Given the description of an element on the screen output the (x, y) to click on. 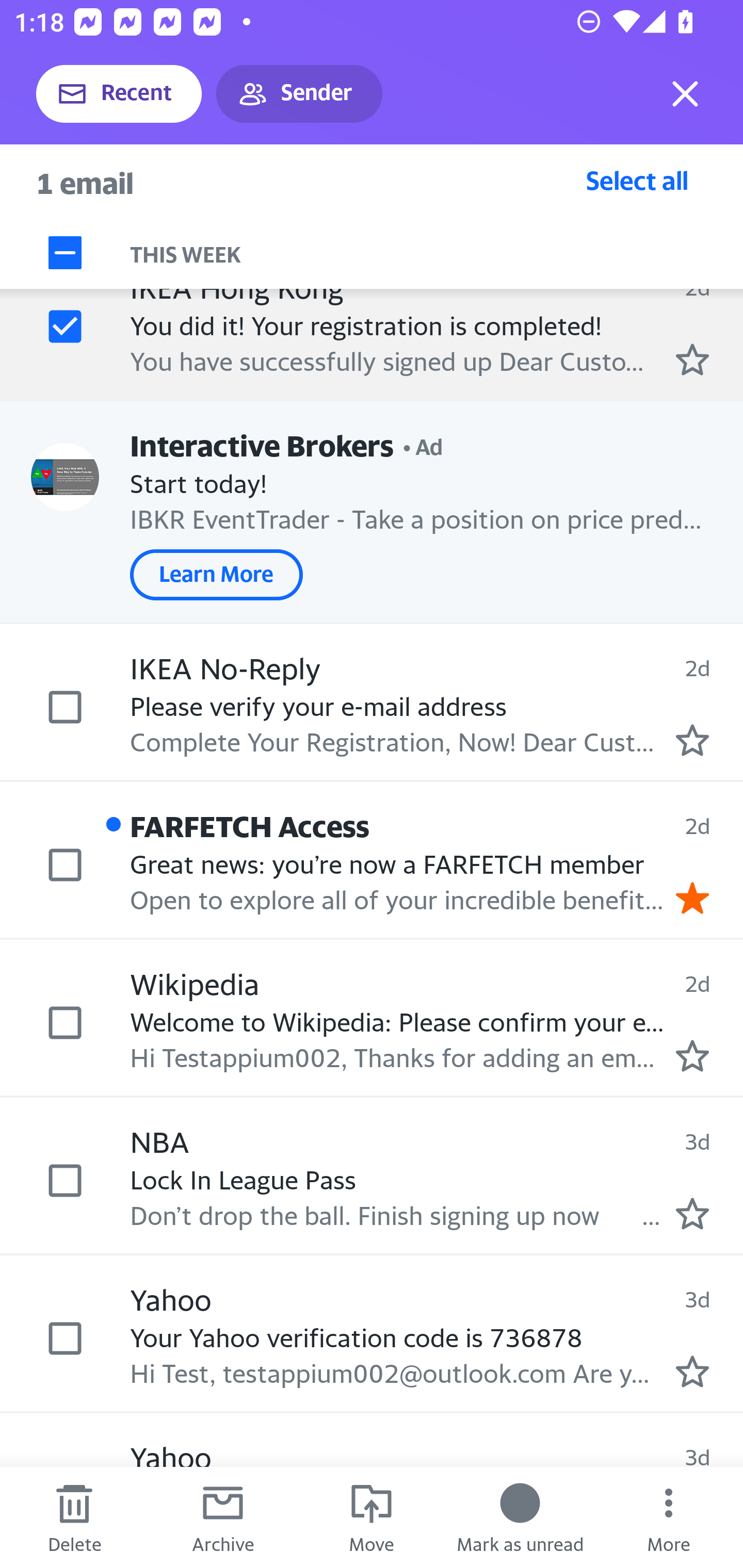
Sender (299, 93)
Exit selection mode (684, 93)
Select all (637, 180)
Mark as starred. (692, 359)
Mark as starred. (692, 740)
Remove star. (692, 897)
Mark as starred. (692, 1056)
Mark as starred. (692, 1213)
Mark as starred. (692, 1371)
Delete (74, 1517)
Archive (222, 1517)
Move (371, 1517)
Mark as unread (519, 1517)
More (668, 1517)
